Given the description of an element on the screen output the (x, y) to click on. 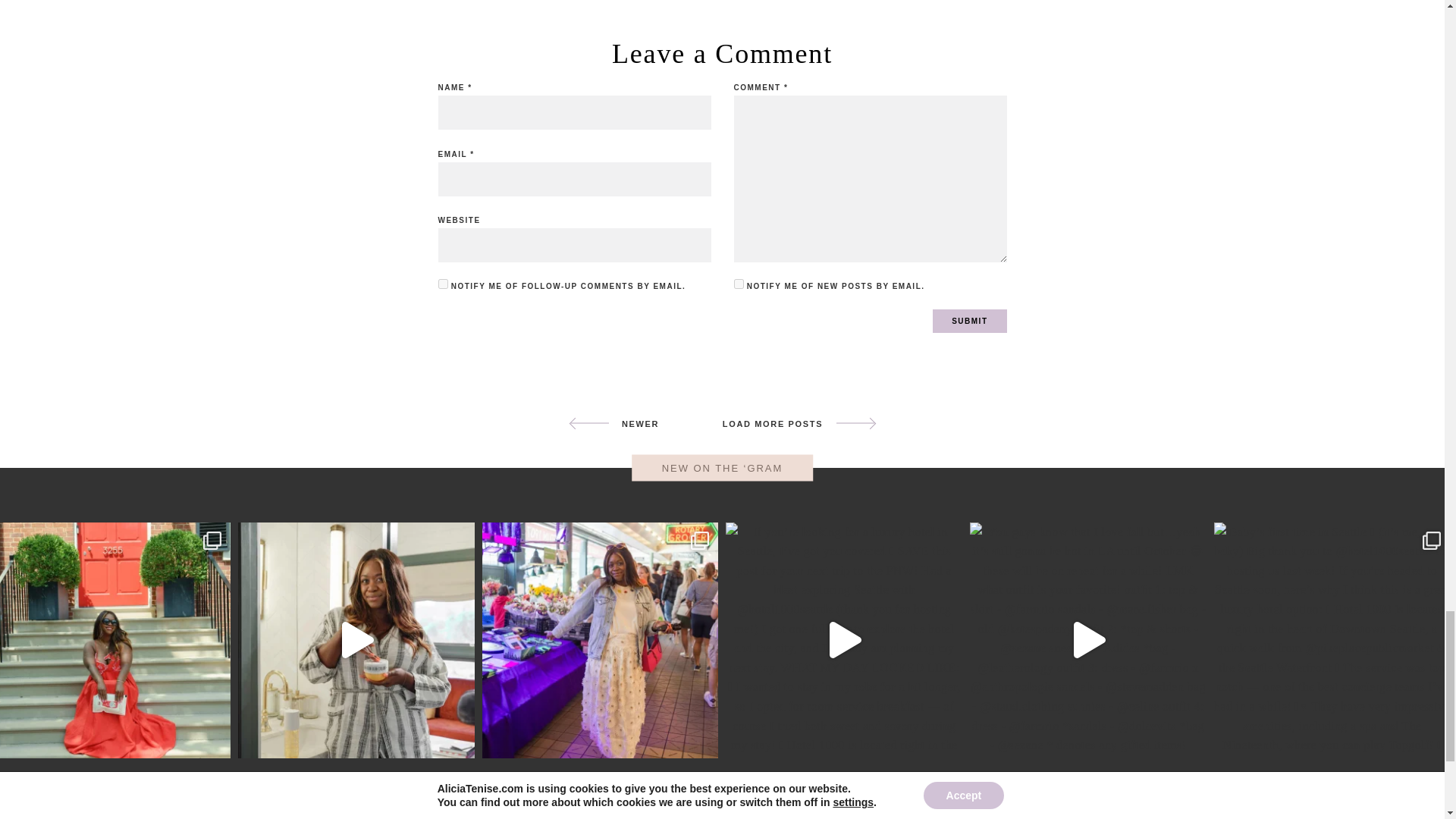
Submit (969, 320)
subscribe (443, 284)
subscribe (738, 284)
